Given the description of an element on the screen output the (x, y) to click on. 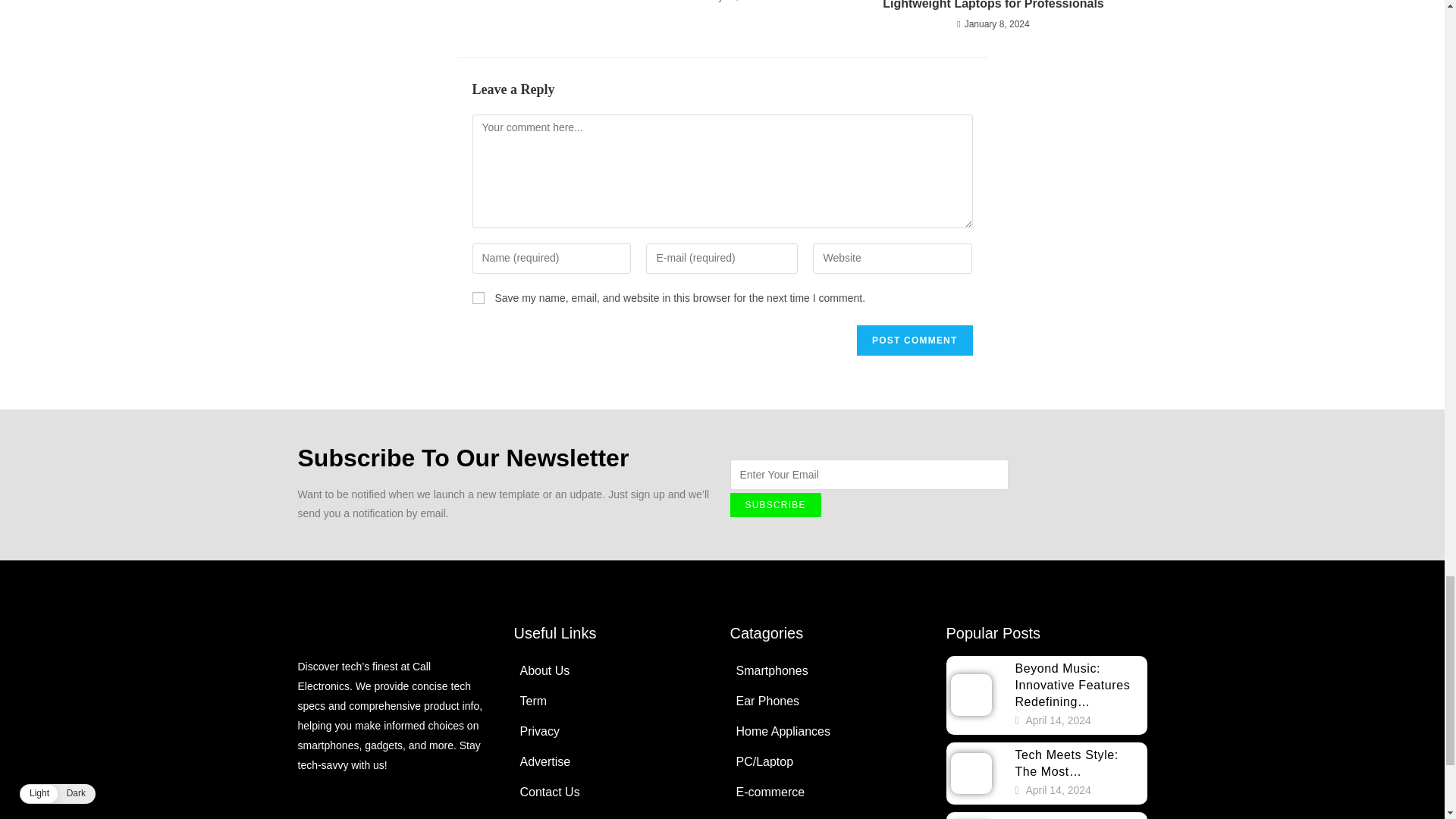
Subscribe (775, 504)
yes (477, 297)
Post Comment (914, 340)
